Given the description of an element on the screen output the (x, y) to click on. 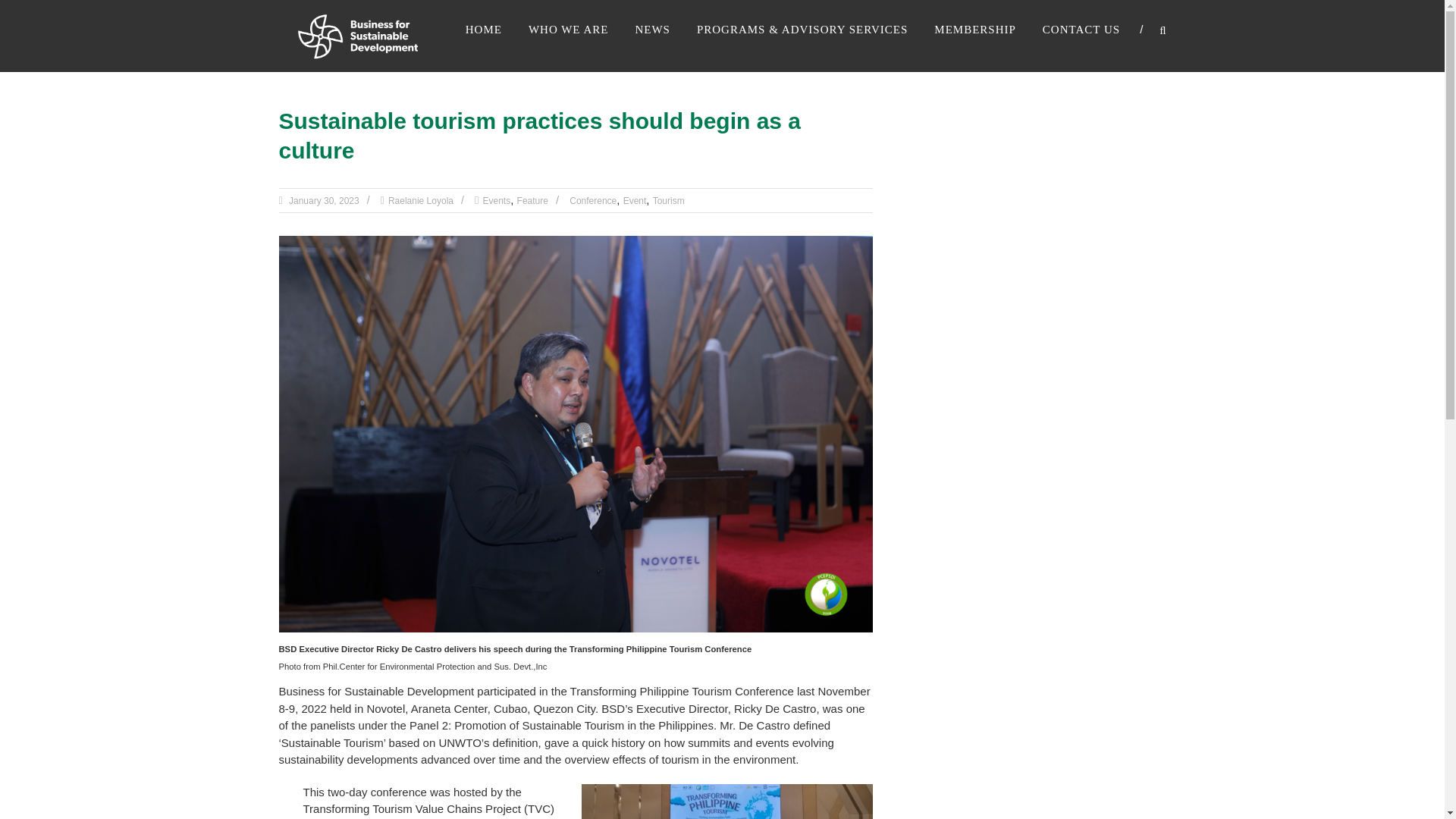
Search (1232, 409)
Raelanie Loyola (420, 200)
Event (634, 200)
CONTACT US (1080, 29)
WHO WE ARE (568, 29)
January 30, 2023 (322, 200)
Feature (532, 200)
BSD (357, 33)
Conference (592, 200)
Events (497, 200)
